Given the description of an element on the screen output the (x, y) to click on. 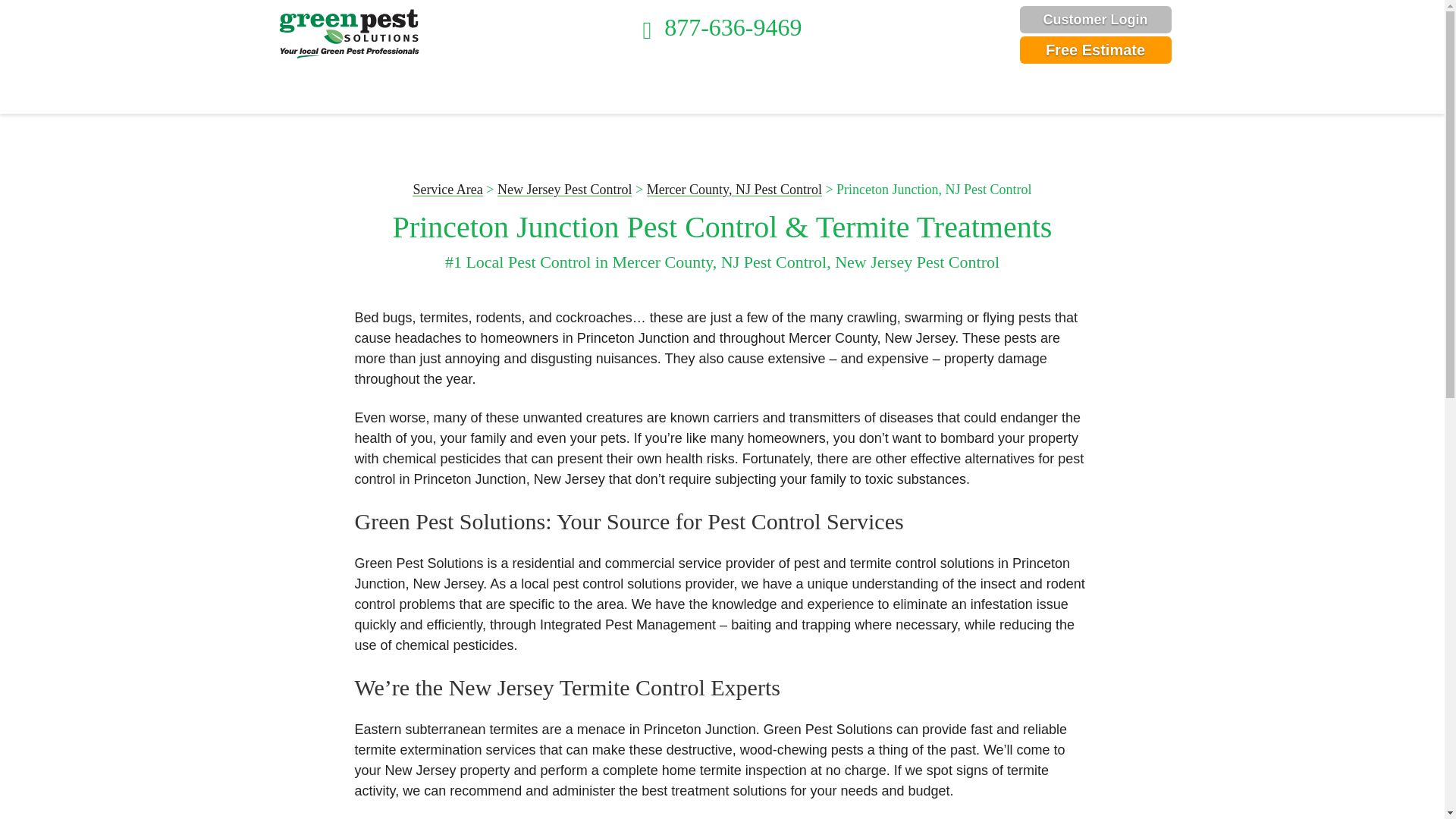
877-636-9469 (722, 26)
Customer Login (1094, 19)
Free Estimate (1094, 49)
